Given the description of an element on the screen output the (x, y) to click on. 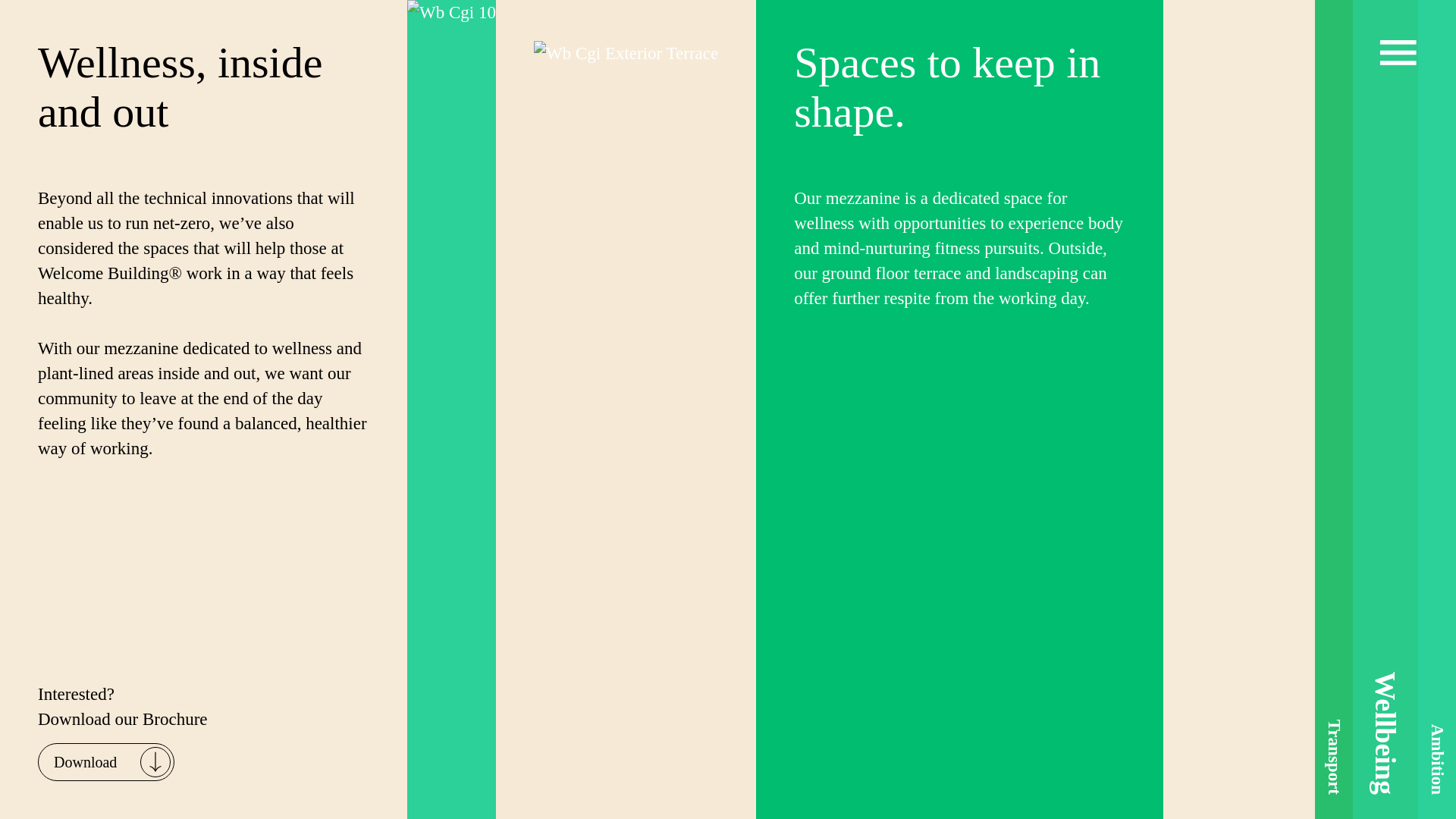
Download (105, 761)
